Given the description of an element on the screen output the (x, y) to click on. 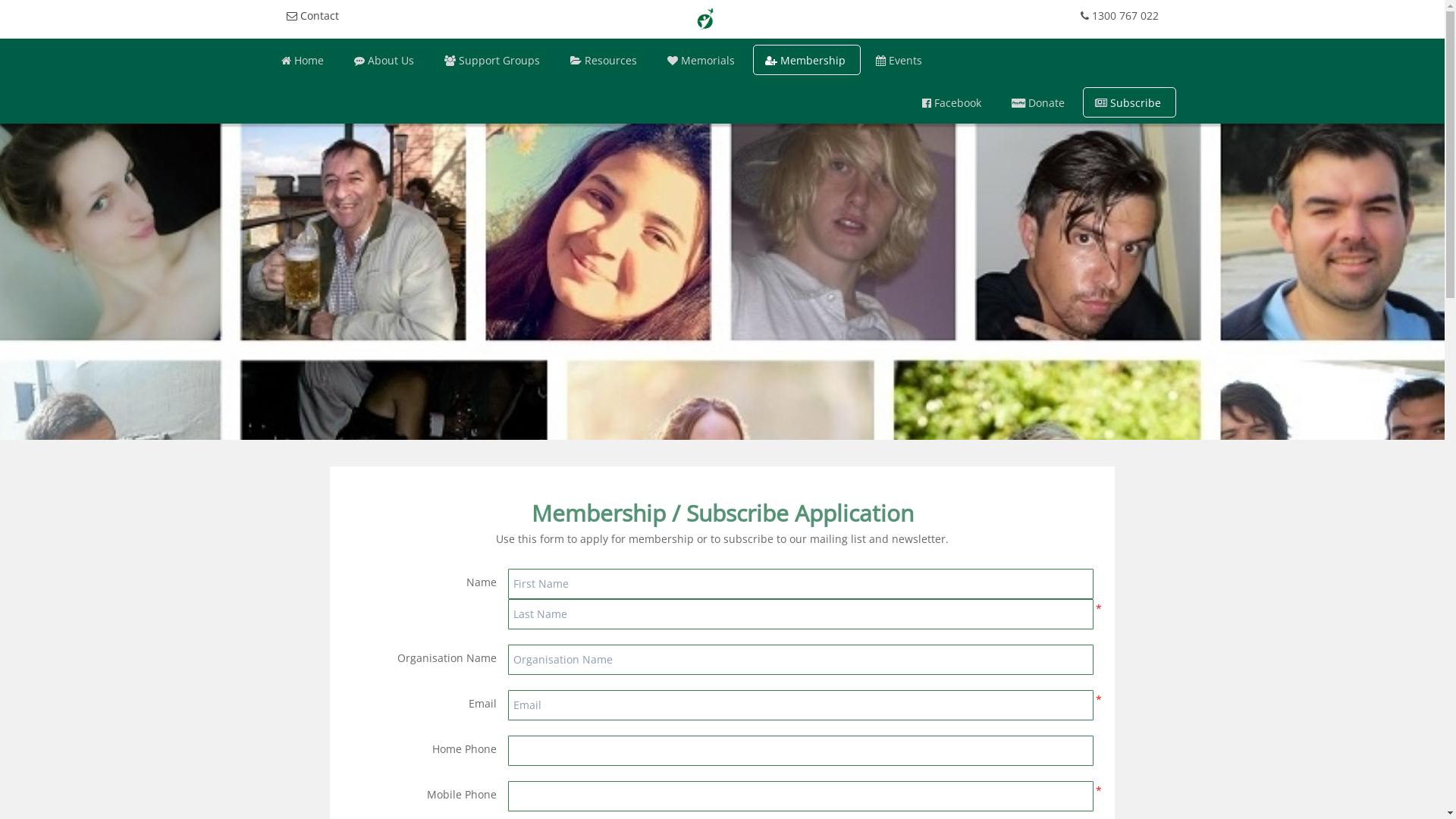
Home Element type: text (303, 59)
About Us Element type: text (384, 59)
Support Groups Element type: text (493, 59)
Donate Element type: text (1039, 102)
Memorials Element type: text (702, 59)
Membership Element type: text (805, 59)
Resources Element type: text (605, 59)
Facebook Element type: text (953, 102)
Events Element type: text (899, 59)
Subscribe Element type: text (1129, 102)
Contact Element type: text (315, 15)
